Given the description of an element on the screen output the (x, y) to click on. 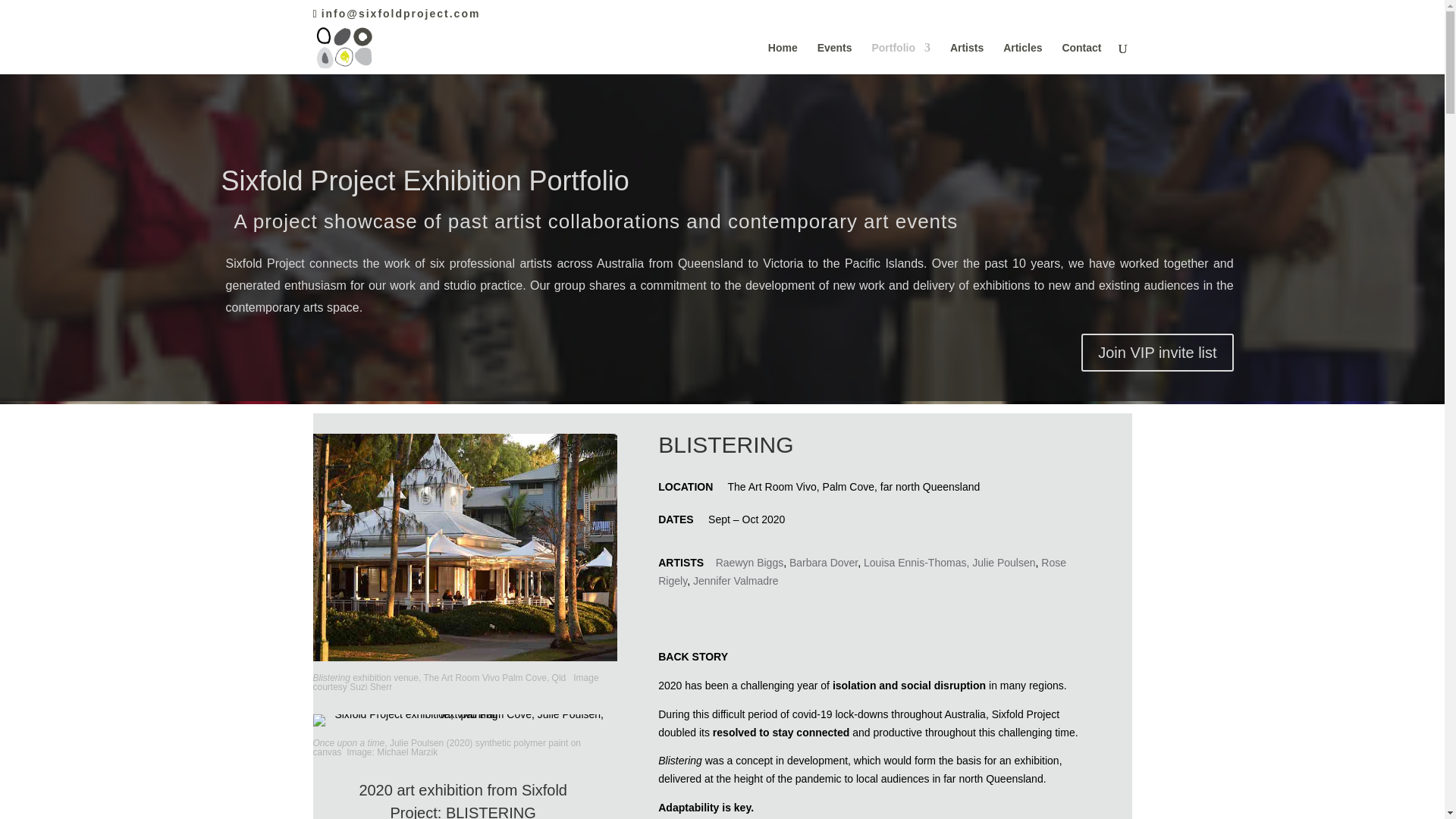
Events (833, 58)
Jennifer Valmadre (735, 580)
Join VIP invite list (1157, 352)
Artists (967, 58)
Sixfold Project Raewyn Biggs - artist profile (750, 562)
Julie Poulsen (1003, 562)
Contact (1080, 58)
Portfolio (900, 58)
Barbara Dover (823, 562)
Home (782, 58)
art-gallery-palm-cove-sixfold-exhibition-blistering (464, 547)
Articles (1022, 58)
Louisa Ennis-Thomas, (916, 562)
Rose Rigely (861, 571)
